Given the description of an element on the screen output the (x, y) to click on. 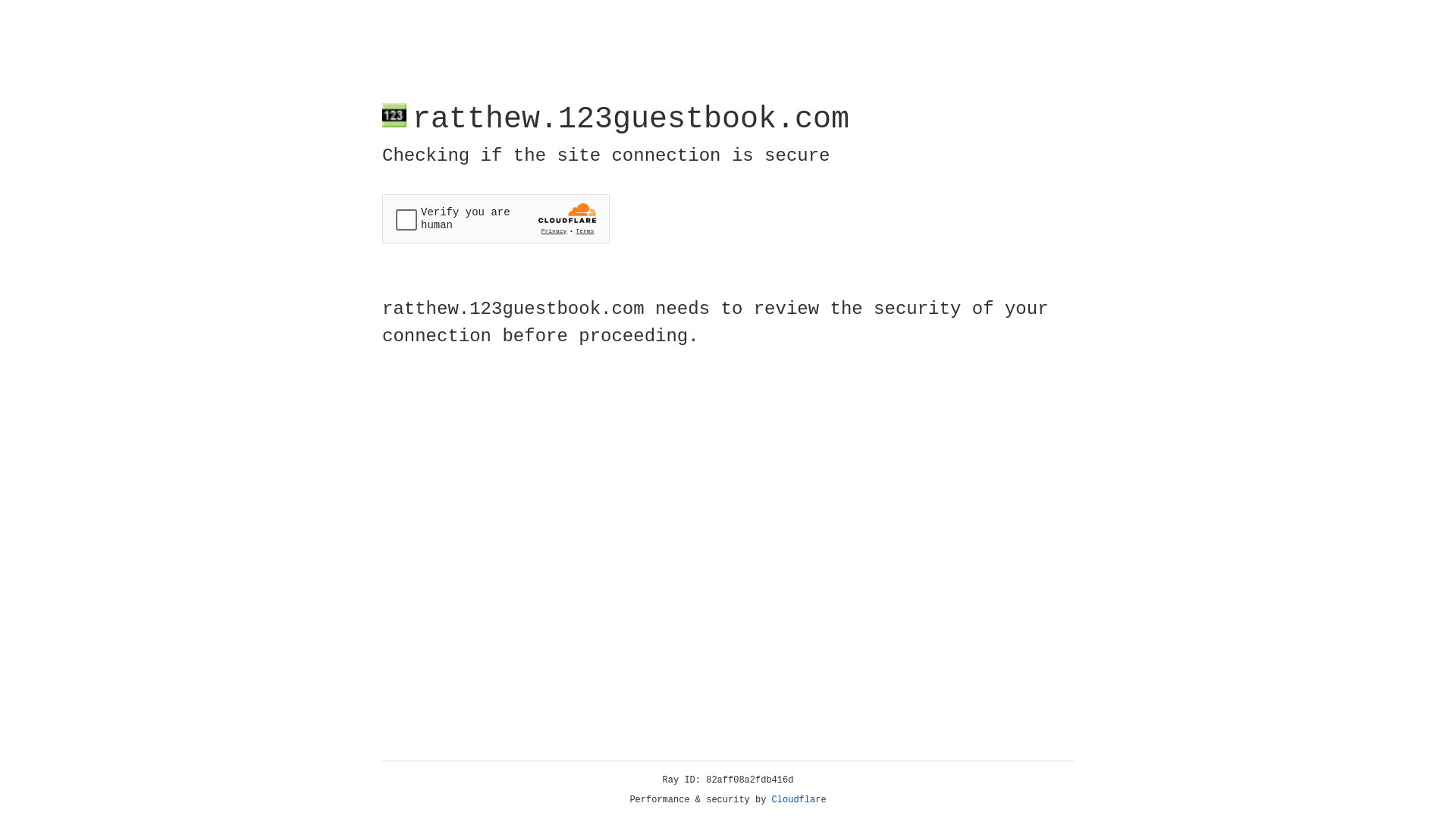
Widget containing a Cloudflare security challenge Element type: hover (495, 218)
Cloudflare Element type: text (798, 799)
